Given the description of an element on the screen output the (x, y) to click on. 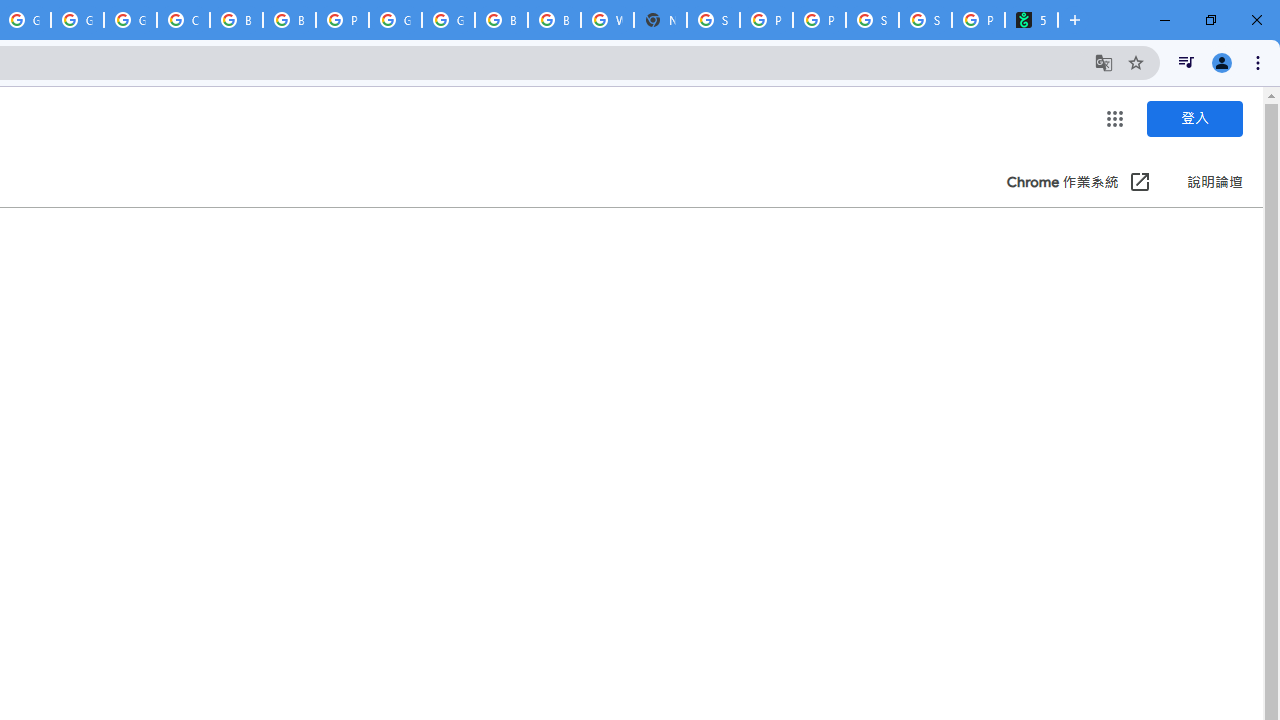
Google Cloud Platform (448, 20)
Google Cloud Platform (77, 20)
New Tab (660, 20)
Browse Chrome as a guest - Computer - Google Chrome Help (235, 20)
Google Cloud Platform (395, 20)
